Given the description of an element on the screen output the (x, y) to click on. 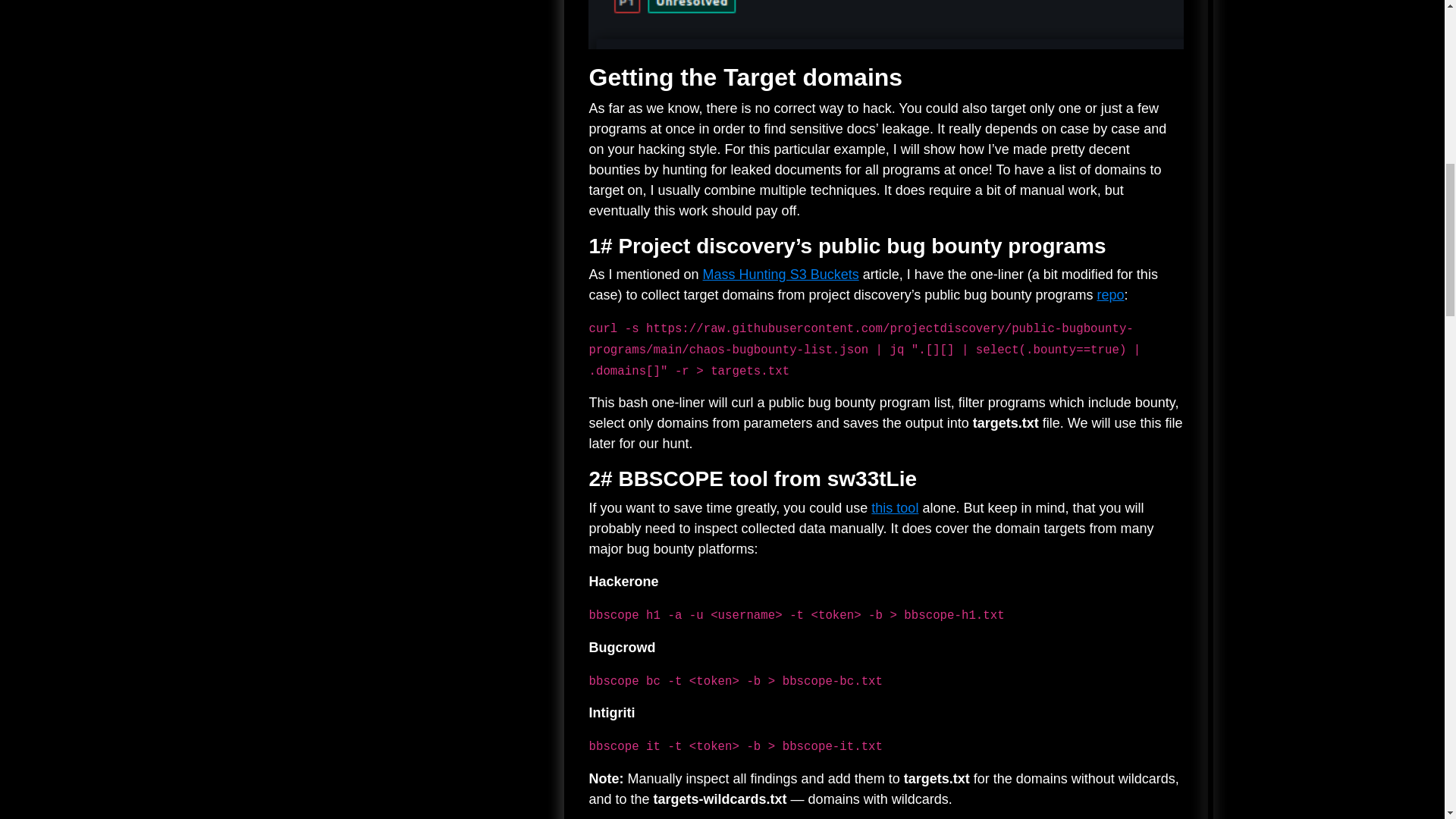
repo (1110, 294)
this tool (894, 507)
Mass Hunting S3 Buckets (781, 273)
